Given the description of an element on the screen output the (x, y) to click on. 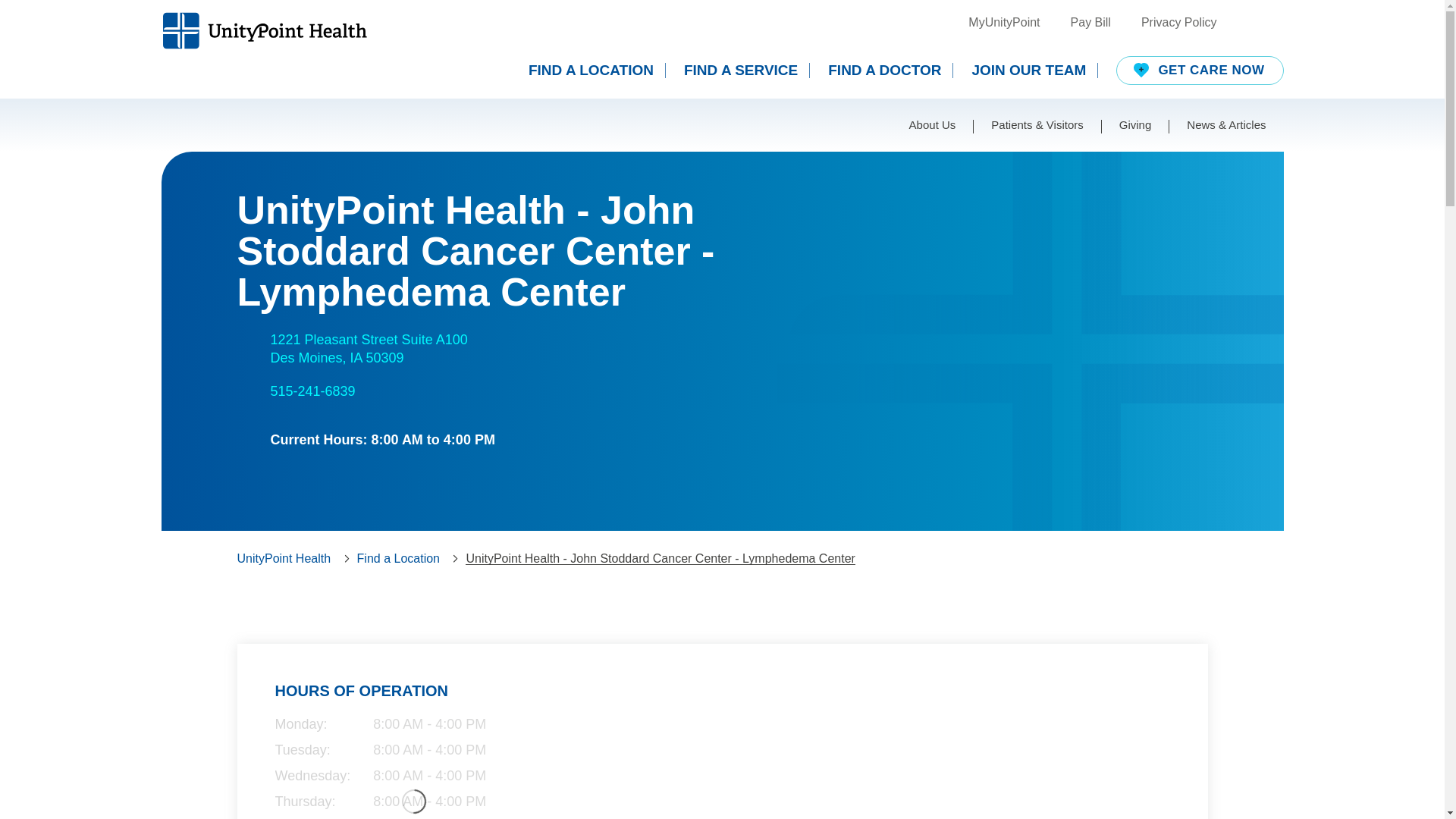
515-241-6839 (368, 348)
Pay Bill (312, 391)
Find a Location (1090, 22)
JOIN OUR TEAM (397, 558)
FIND A LOCATION (1034, 69)
About Us (596, 69)
FIND A DOCTOR (932, 124)
Privacy Policy (890, 69)
Giving (1179, 22)
FIND A SERVICE (1135, 124)
GET CARE NOW (746, 69)
MyUnityPoint (1199, 70)
UnityPoint Health (1003, 22)
